Given the description of an element on the screen output the (x, y) to click on. 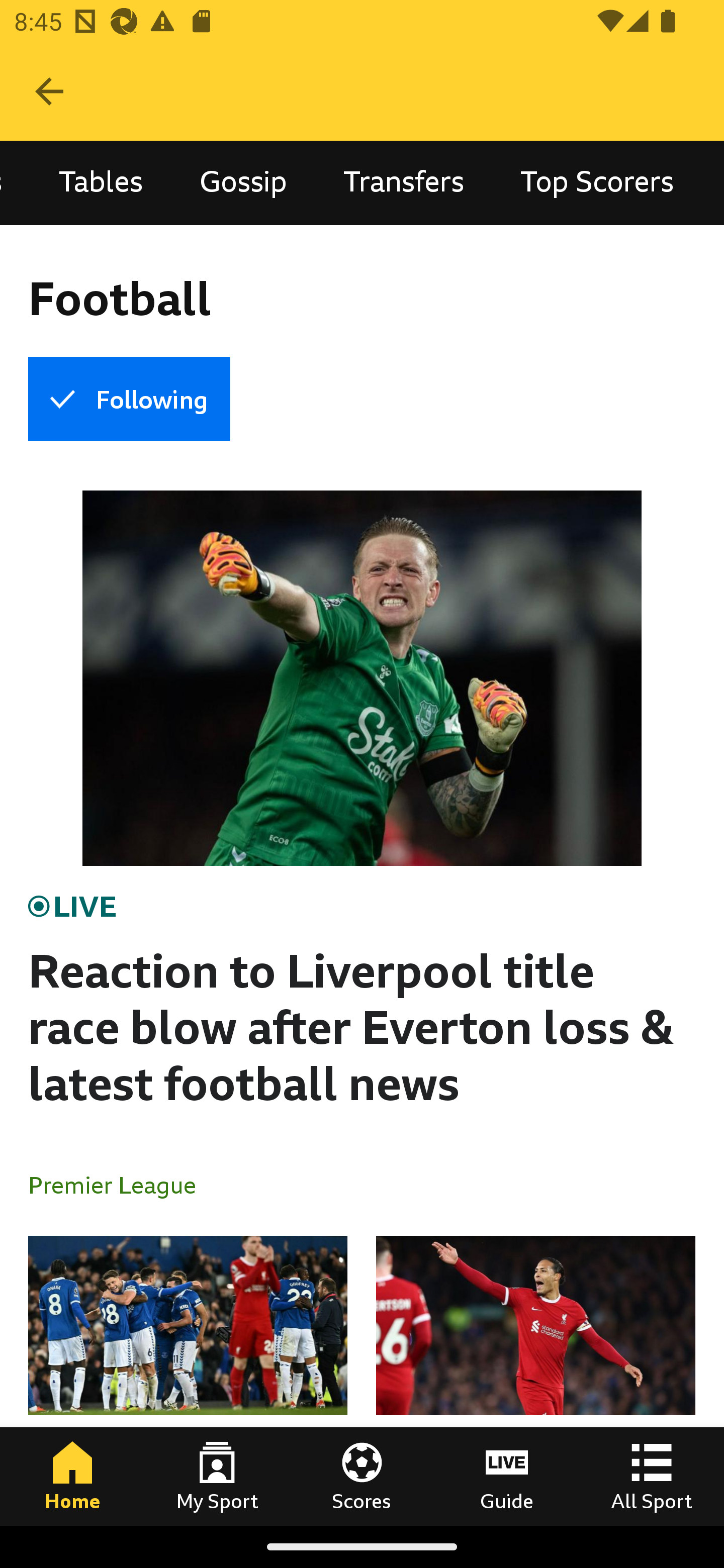
Navigate up (49, 91)
Tables (100, 183)
Gossip (242, 183)
Transfers (403, 183)
Top Scorers (597, 183)
Following Football Following (129, 398)
Premier League In the section Premier League (119, 1184)
Van Dijk questions desire of team-mates after loss (535, 1380)
My Sport (216, 1475)
Scores (361, 1475)
Guide (506, 1475)
All Sport (651, 1475)
